Given the description of an element on the screen output the (x, y) to click on. 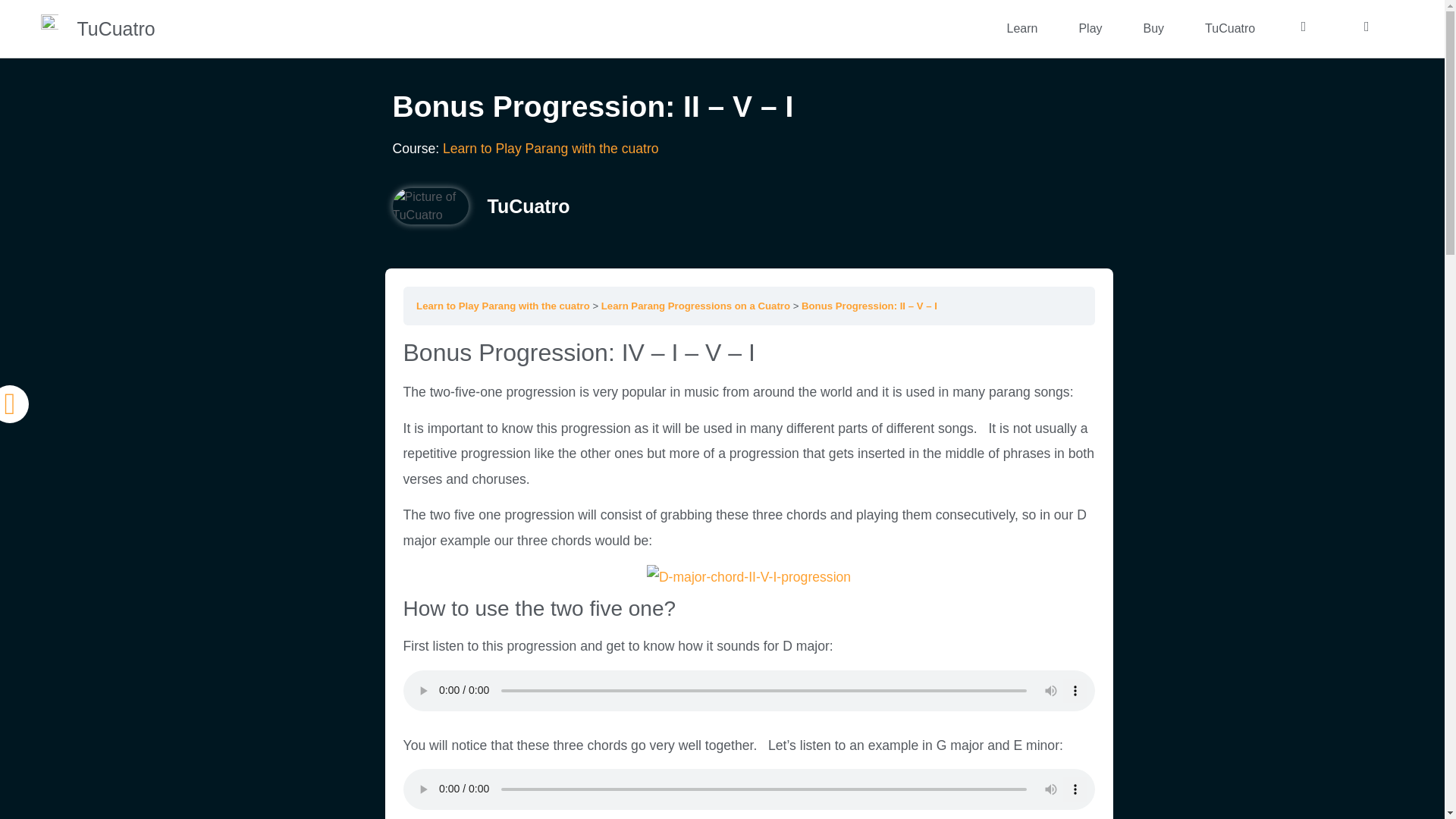
TuCuatro (1230, 28)
Learn (1021, 28)
Play (1090, 28)
Buy (1153, 28)
TuCuatro (116, 28)
